Given the description of an element on the screen output the (x, y) to click on. 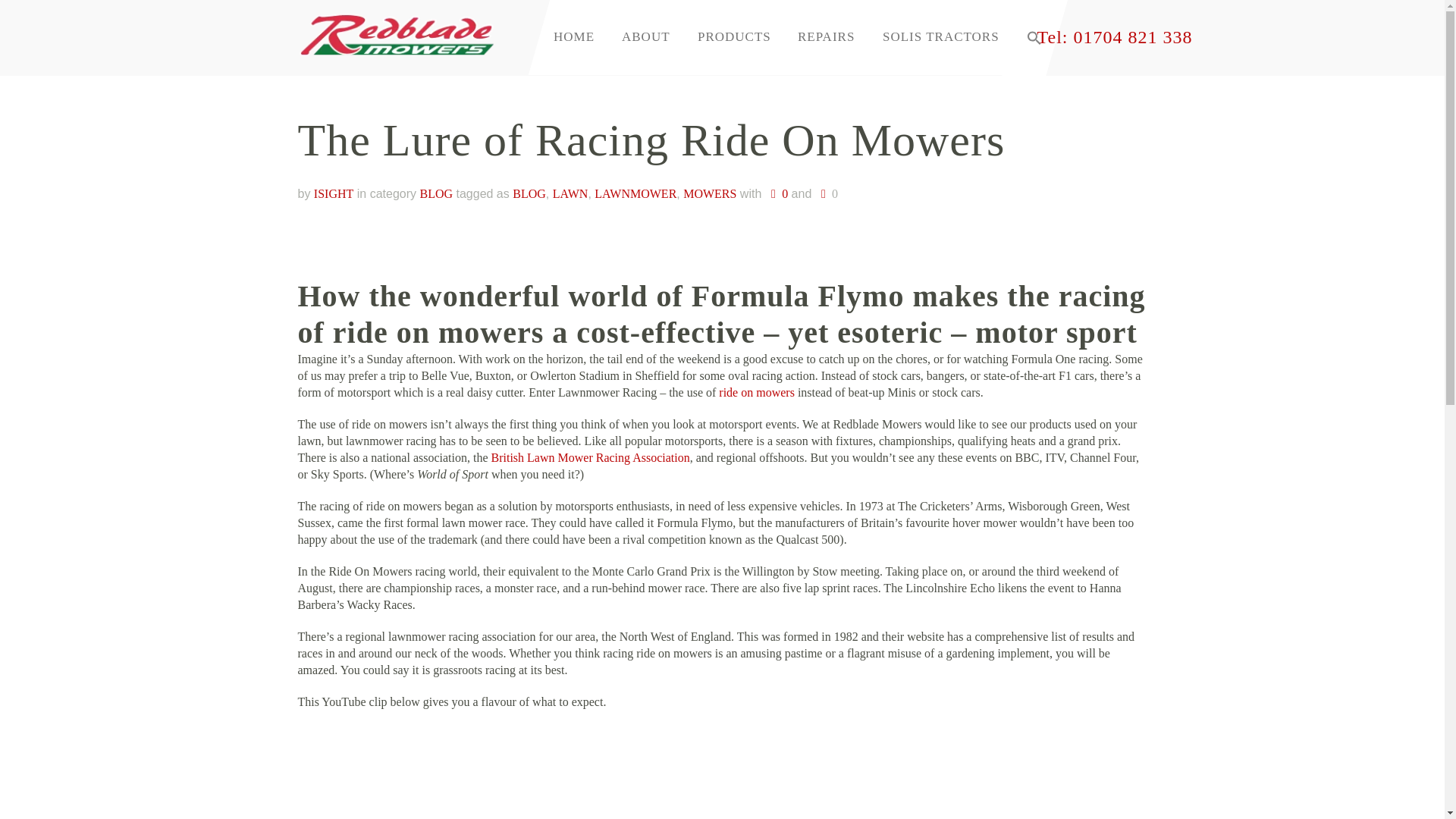
HOME (574, 37)
Like (826, 193)
ISIGHT (333, 193)
BLOG (529, 193)
Posts by isight (333, 193)
SOLIS TRACTORS (941, 37)
0 (776, 193)
LAWNMOWER (635, 193)
ride on mowers (756, 391)
BLOG (435, 193)
